Given the description of an element on the screen output the (x, y) to click on. 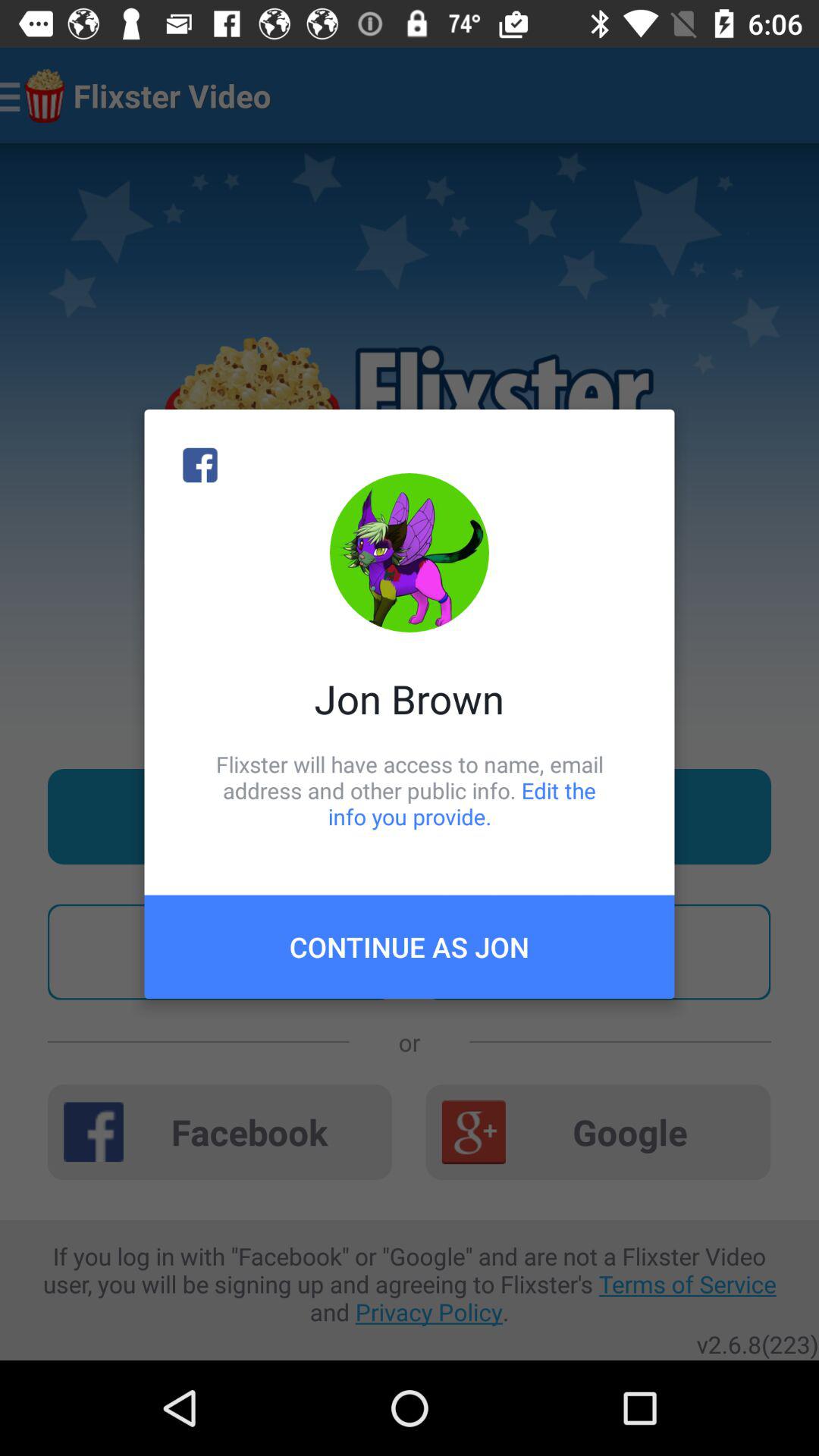
jump until the flixster will have item (409, 790)
